Given the description of an element on the screen output the (x, y) to click on. 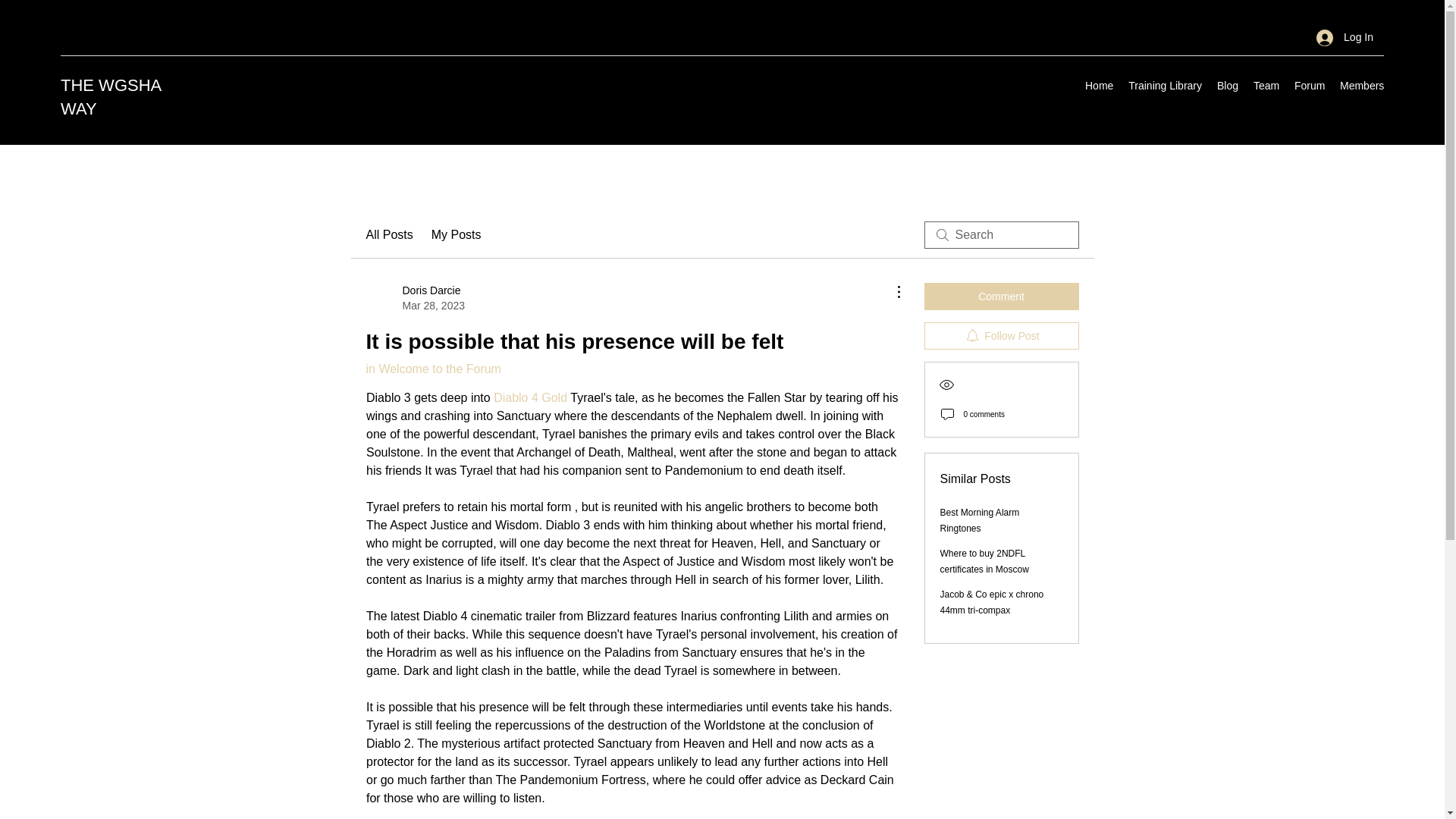
Log In (1345, 37)
All Posts (388, 235)
in Welcome to the Forum (432, 368)
Training Library (1165, 85)
Where to buy 2NDFL certificates in Moscow (984, 560)
Best Morning Alarm Ringtones (980, 519)
Blog (1227, 85)
Follow Post (1000, 335)
Forum (1309, 85)
